Given the description of an element on the screen output the (x, y) to click on. 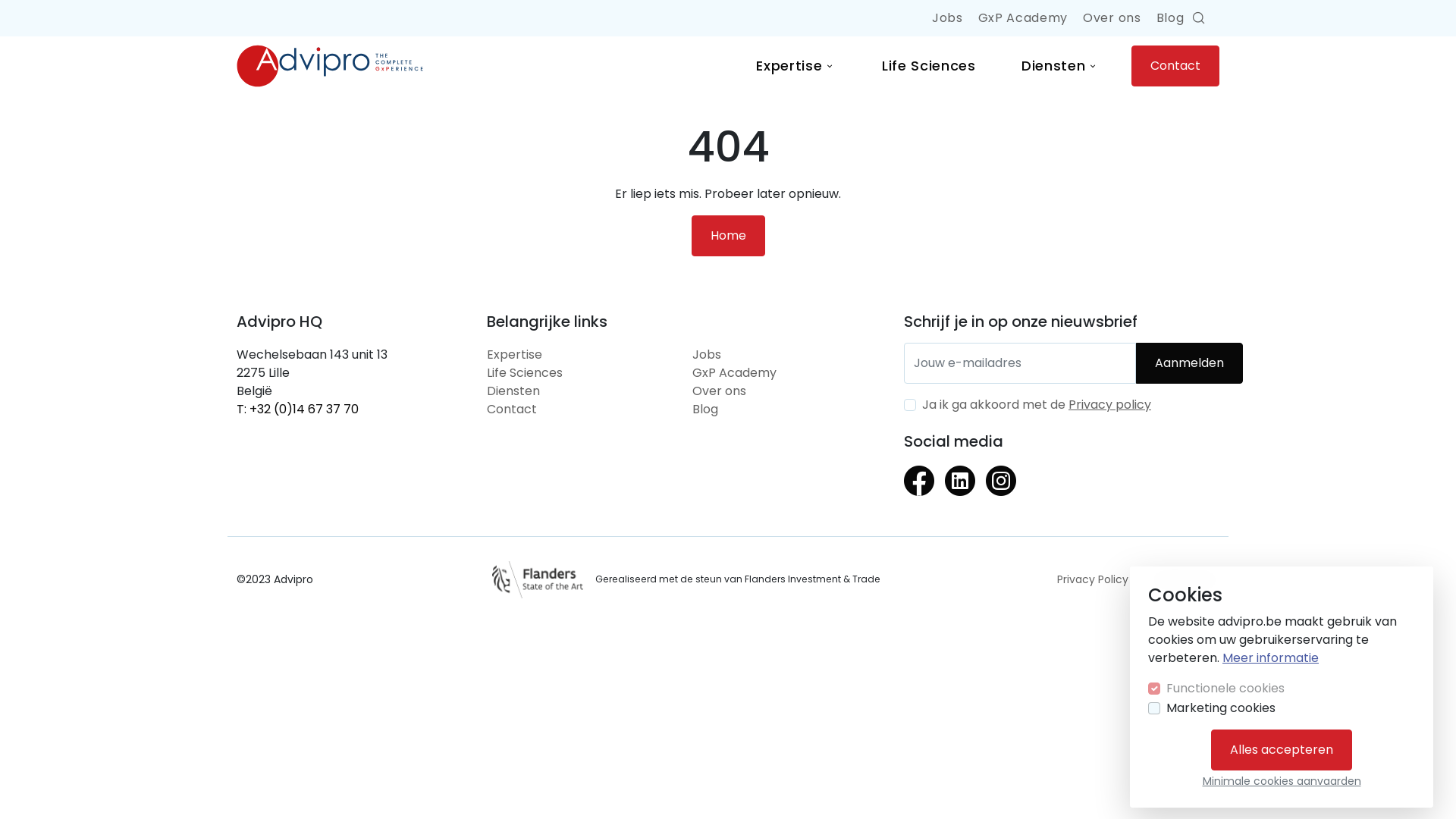
Aanmelden Element type: text (1188, 362)
Life Sciences Element type: text (524, 372)
Alles accepteren Element type: text (1281, 749)
Diensten Element type: text (1060, 65)
Contact Element type: text (1175, 65)
Blog Element type: text (1170, 18)
Jobs Element type: text (706, 354)
Contact Element type: text (511, 408)
Over ons Element type: text (719, 390)
Cookie policy Element type: text (1183, 578)
GxP Academy Element type: text (734, 372)
Jobs Element type: text (947, 18)
Expertise Element type: text (514, 354)
Privacy policy Element type: text (1109, 404)
Home Element type: text (728, 235)
Life Sciences Element type: text (928, 65)
GxP Academy Element type: text (1022, 18)
facebook Element type: hover (918, 491)
Zoeken Element type: hover (1199, 18)
Diensten Element type: text (512, 390)
Privacy Policy Element type: text (1092, 578)
Expertise Element type: text (796, 65)
Over ons Element type: text (1111, 18)
Minimale cookies aanvaarden Element type: text (1281, 781)
linkedin Element type: hover (959, 491)
Meer informatie Element type: text (1270, 657)
instagram Element type: hover (1000, 491)
Blog Element type: text (705, 408)
T: +32 (0)14 67 37 70 Element type: text (297, 408)
